Given the description of an element on the screen output the (x, y) to click on. 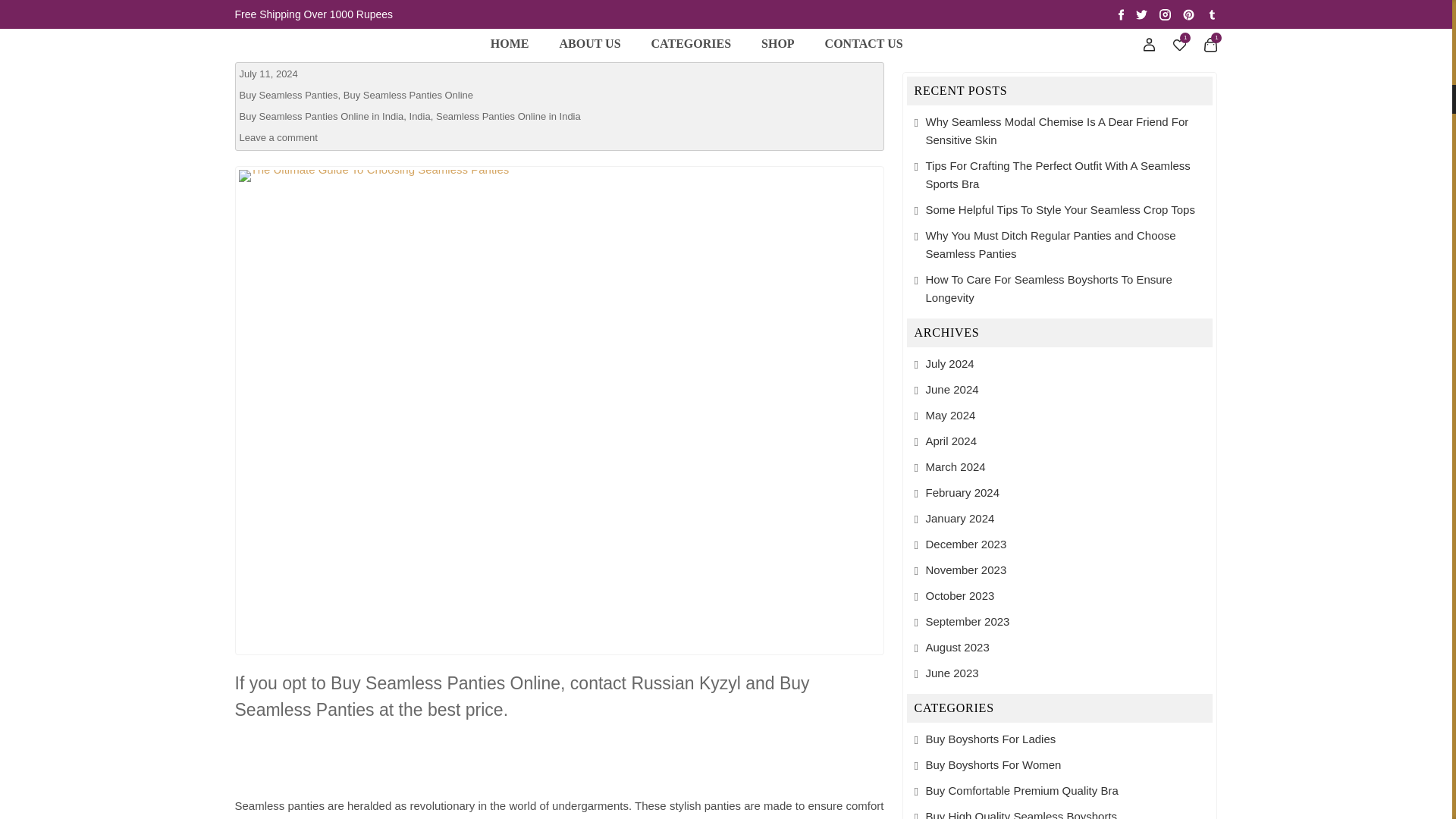
Russian Kyzyl (390, 24)
